Given the description of an element on the screen output the (x, y) to click on. 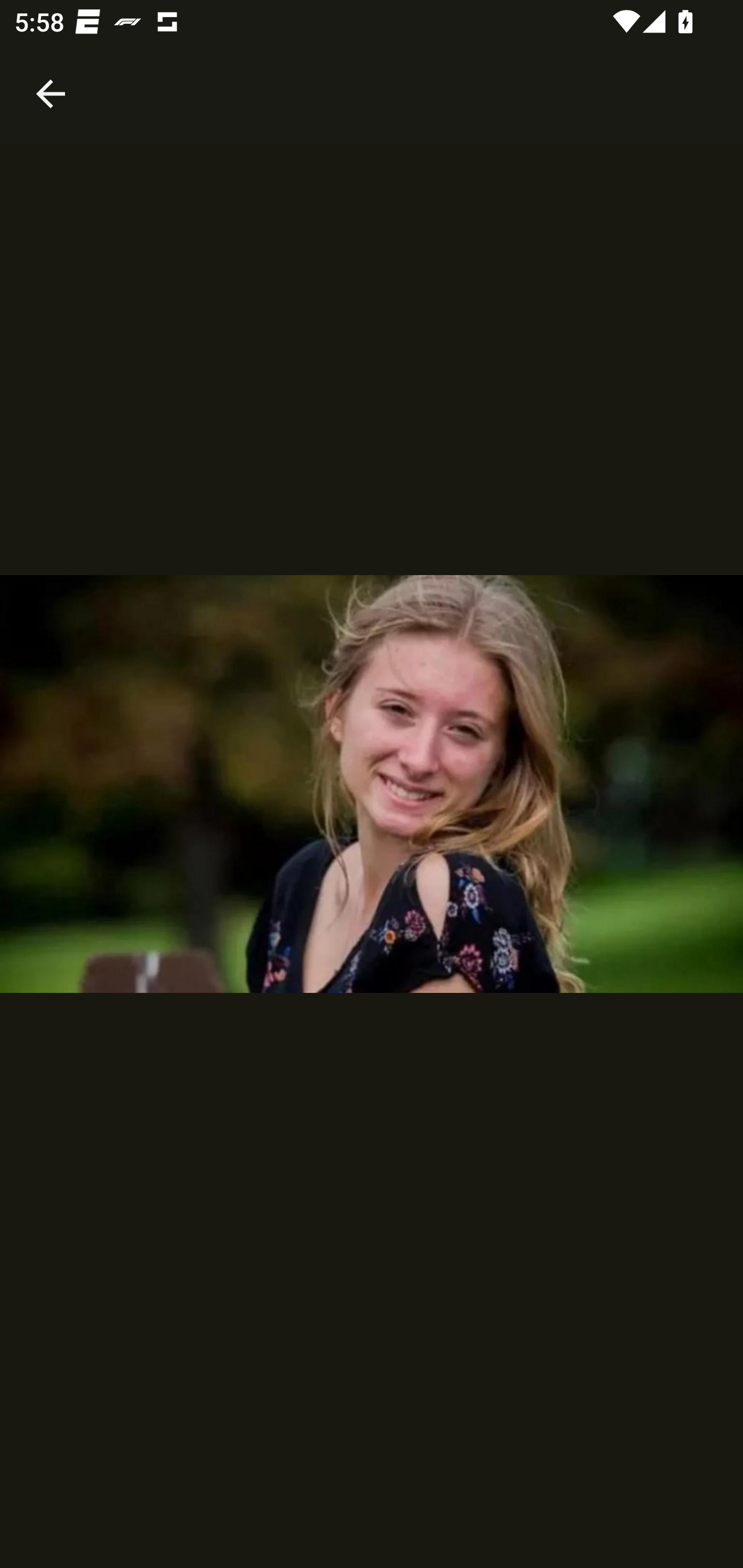
Back (50, 72)
